Given the description of an element on the screen output the (x, y) to click on. 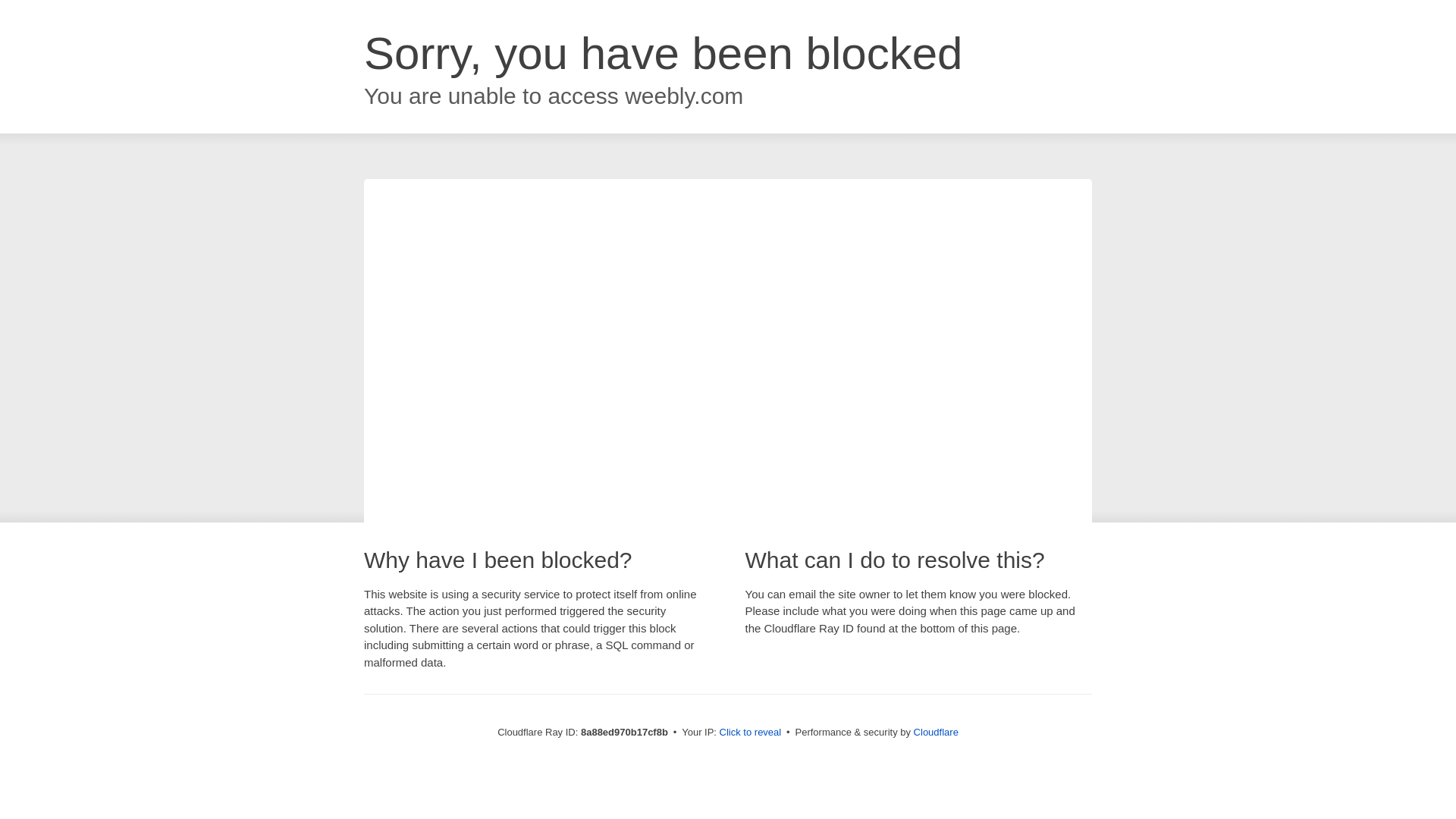
Cloudflare (936, 731)
Click to reveal (750, 732)
